Given the description of an element on the screen output the (x, y) to click on. 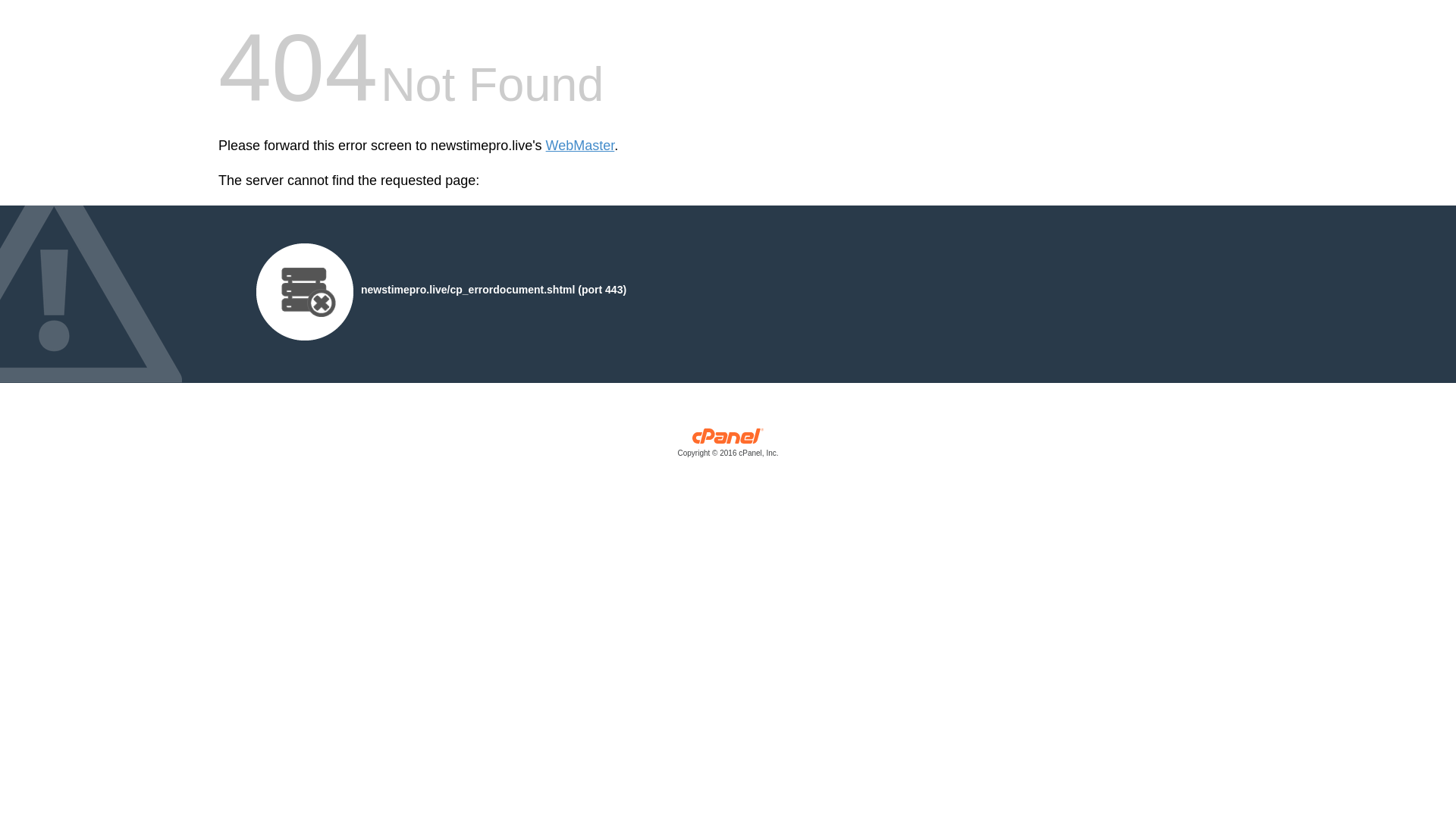
cPanel, Inc. (727, 446)
WebMaster (580, 145)
